Given the description of an element on the screen output the (x, y) to click on. 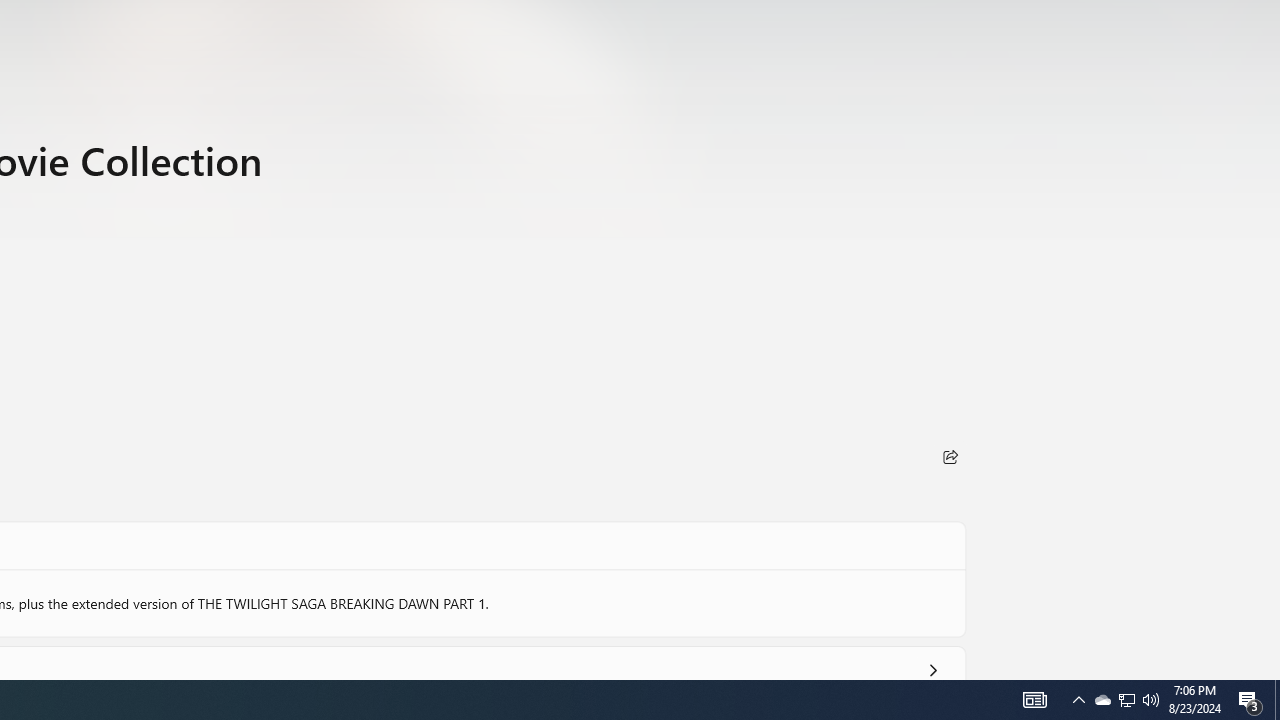
Show all ratings and reviews (932, 665)
Share (950, 456)
